Given the description of an element on the screen output the (x, y) to click on. 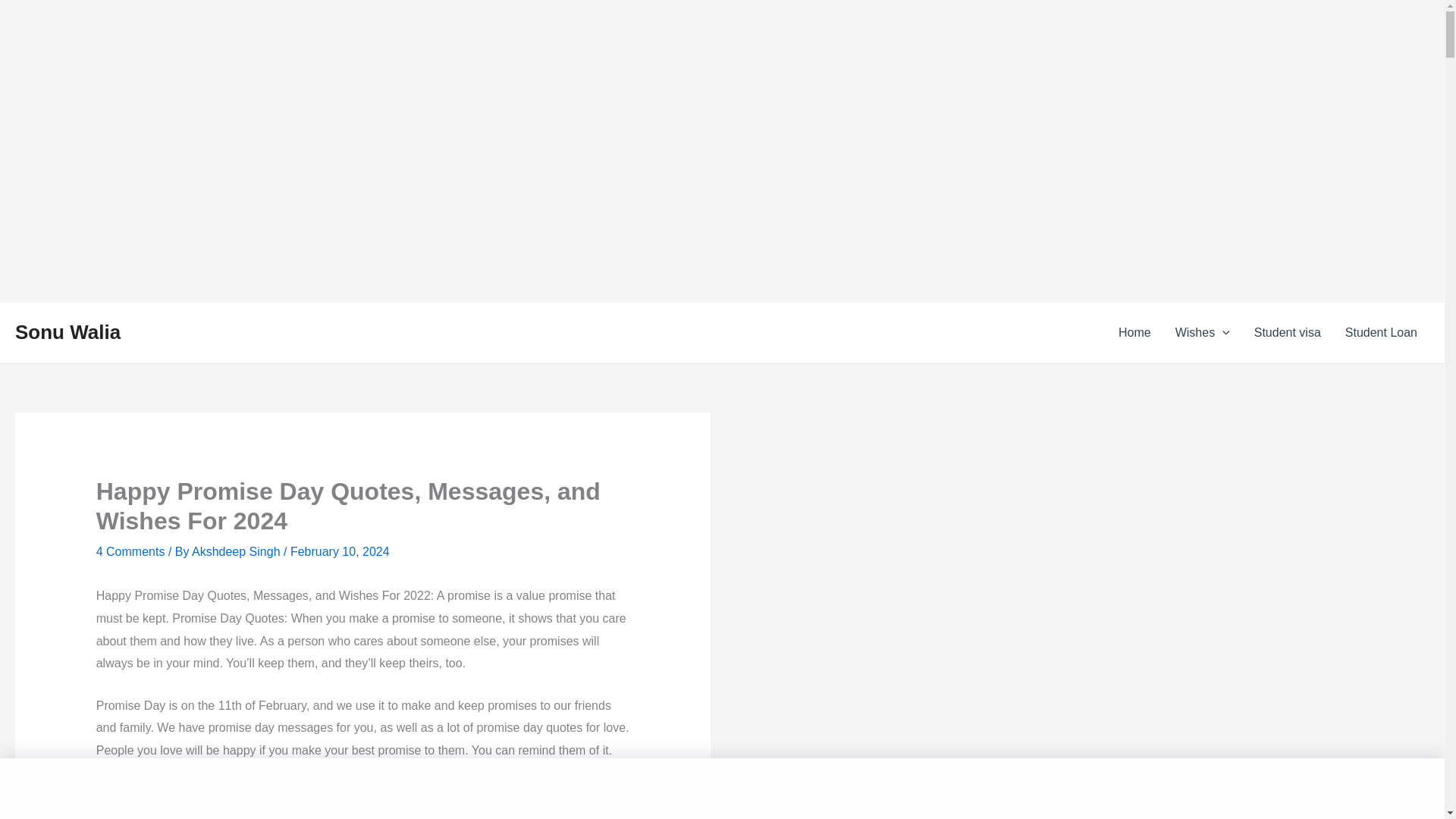
View all posts by Akshdeep Singh (237, 551)
Student Loan (1381, 332)
Sonu Walia (67, 332)
Home (1134, 332)
Wishes (1202, 332)
Student visa (1287, 332)
